Given the description of an element on the screen output the (x, y) to click on. 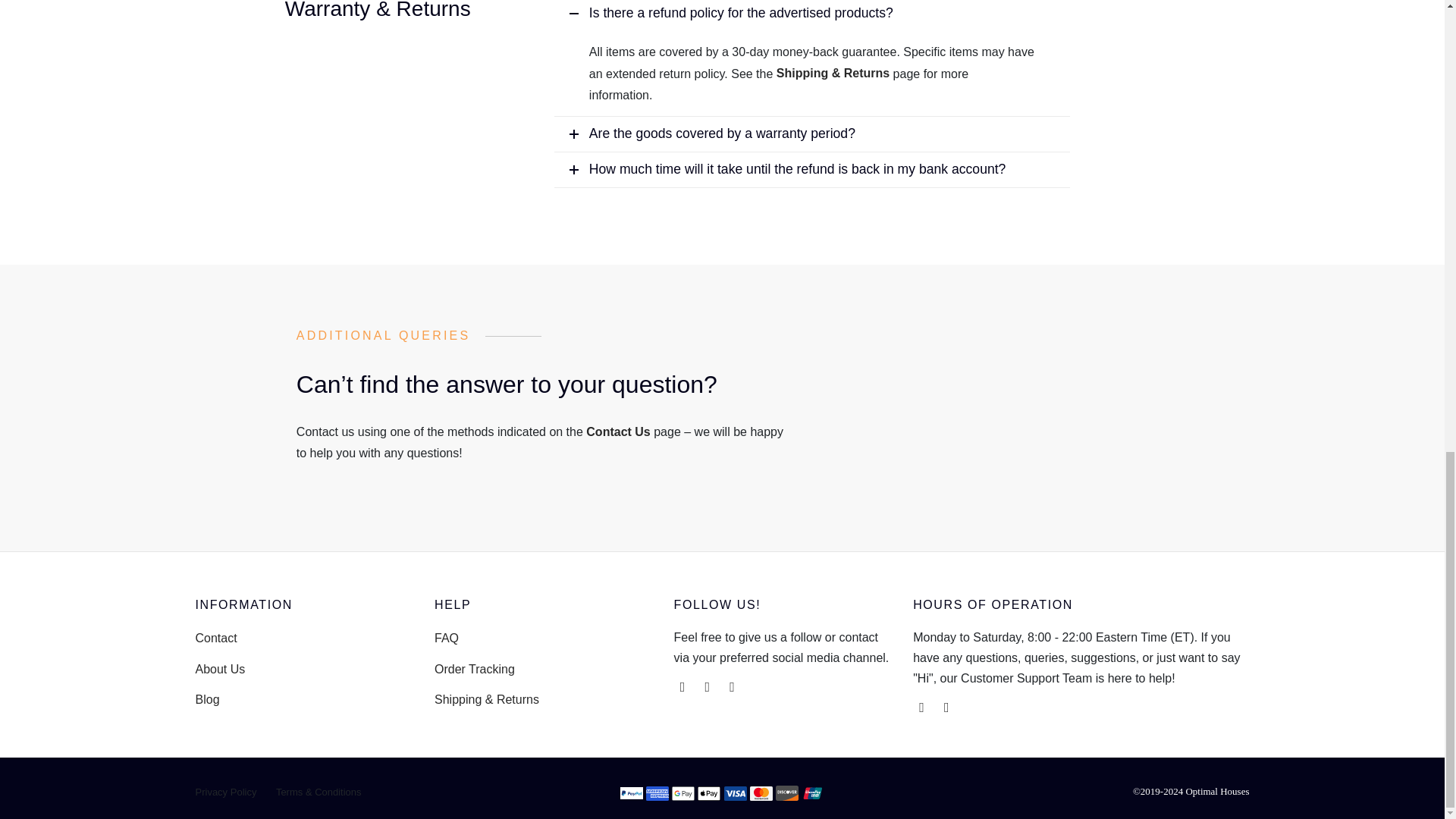
FAQ (445, 638)
Contact Us (617, 431)
Is there a refund policy for the advertised products? (812, 15)
Order Tracking (474, 668)
Are the goods covered by a warranty period? (812, 134)
